Given the description of an element on the screen output the (x, y) to click on. 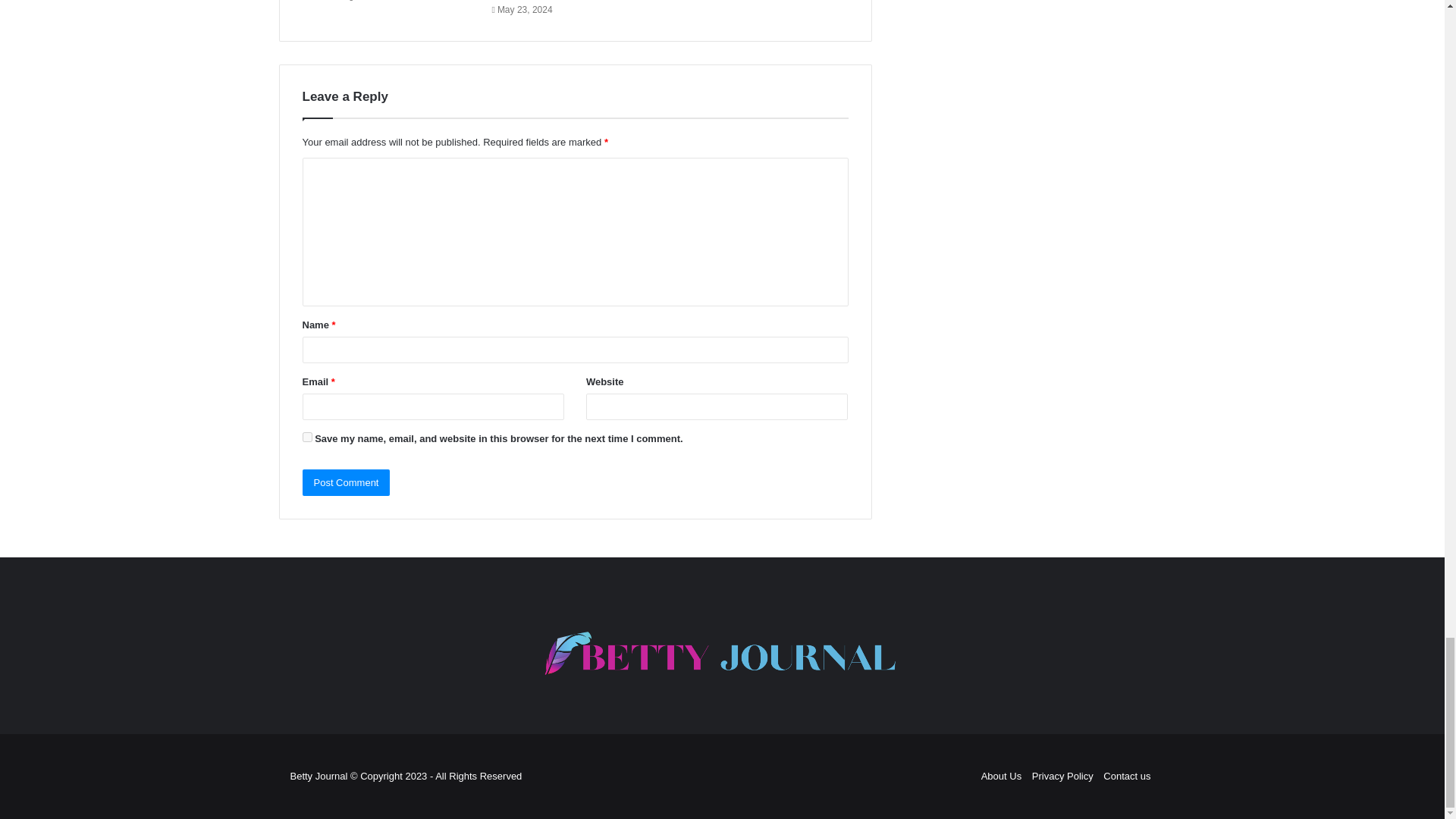
yes (306, 437)
Post Comment (345, 482)
